Given the description of an element on the screen output the (x, y) to click on. 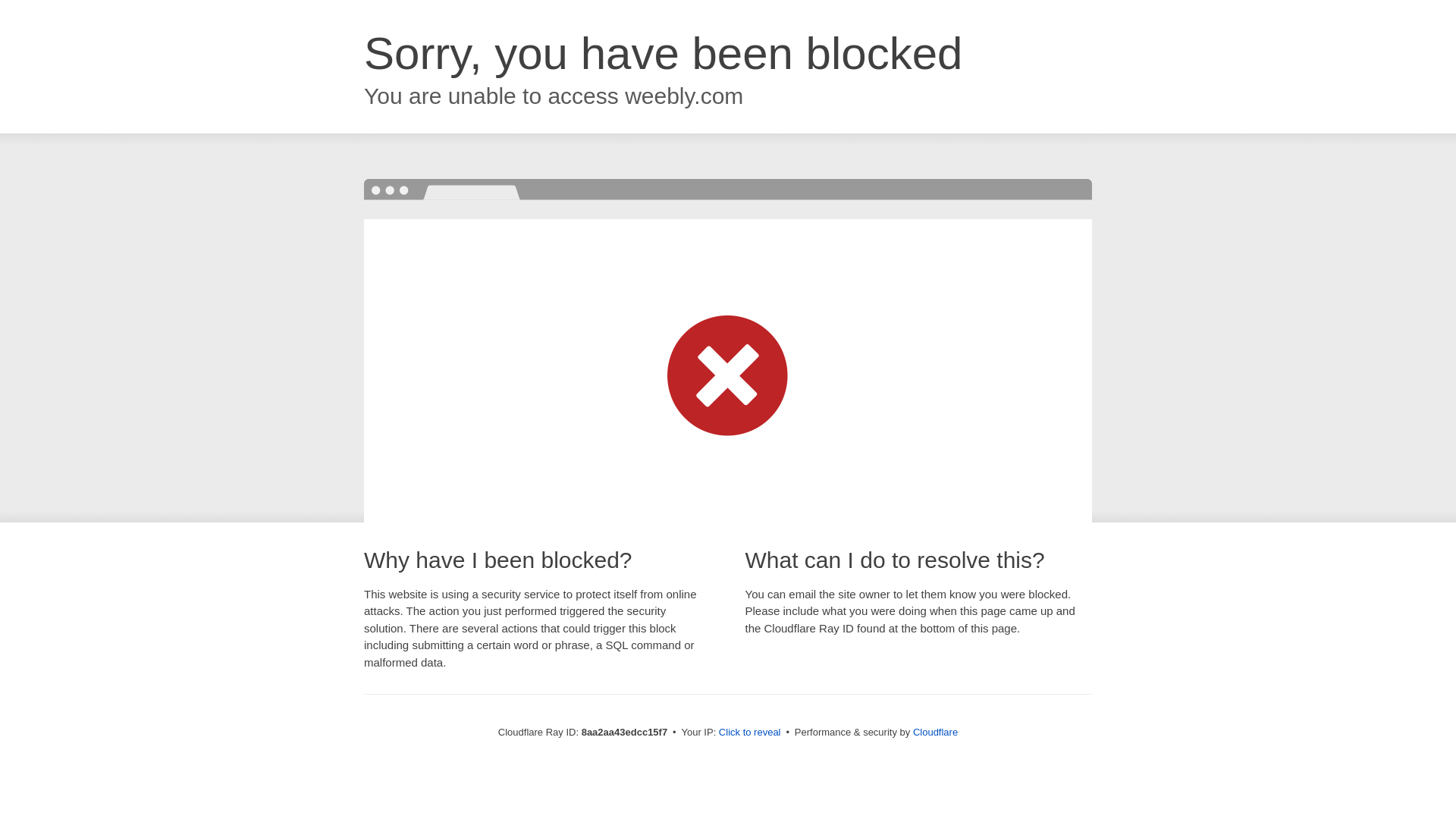
Cloudflare (935, 731)
Click to reveal (749, 732)
